Given the description of an element on the screen output the (x, y) to click on. 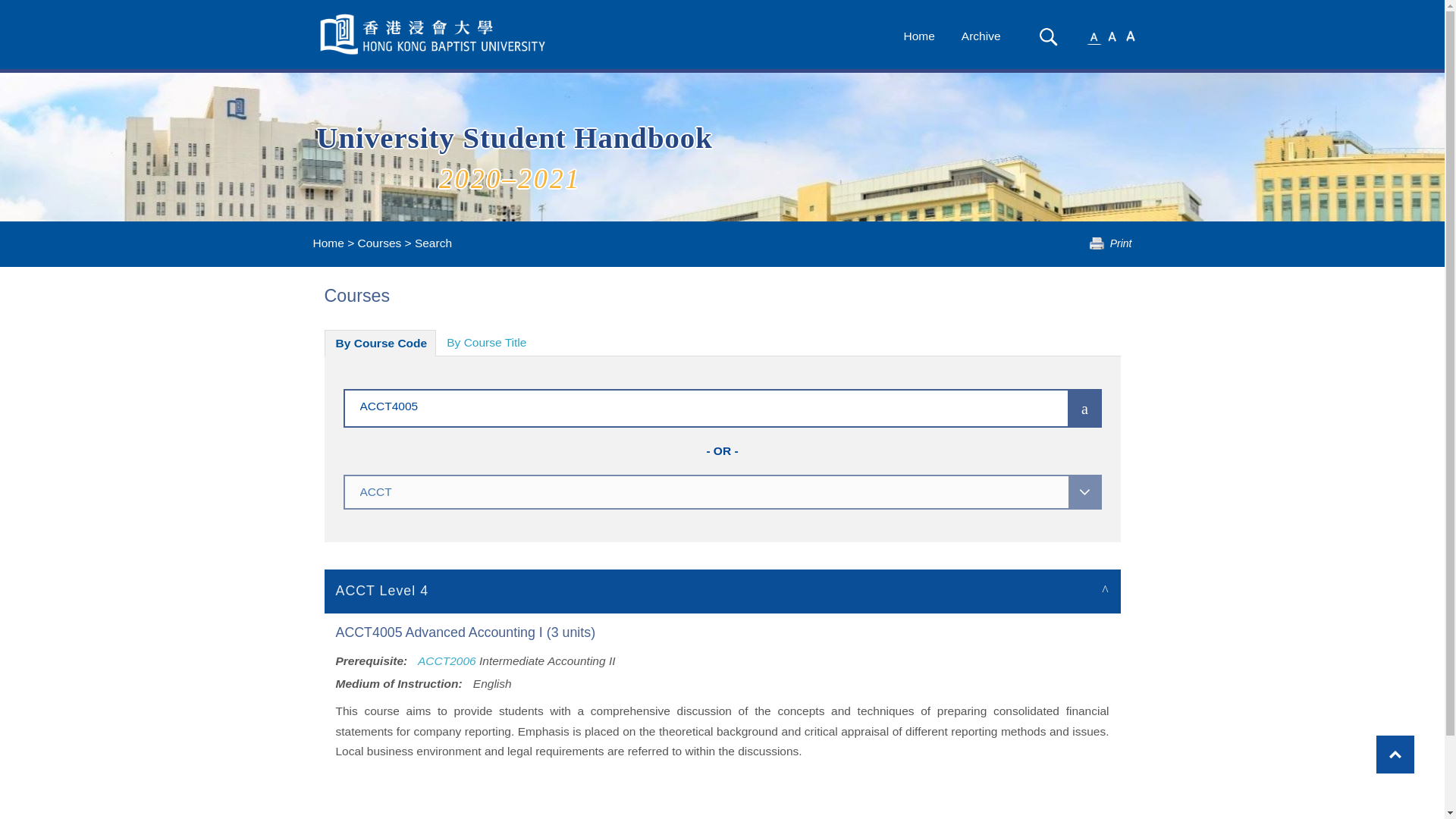
ACCT4005 (683, 404)
Archive (981, 36)
Scroll To Top (1394, 754)
Search (1048, 36)
ACCT2006 (446, 660)
Print (1110, 243)
Search (1048, 36)
HKBU Student Handbook (434, 34)
Courses (379, 242)
By Course Title (486, 342)
